Given the description of an element on the screen output the (x, y) to click on. 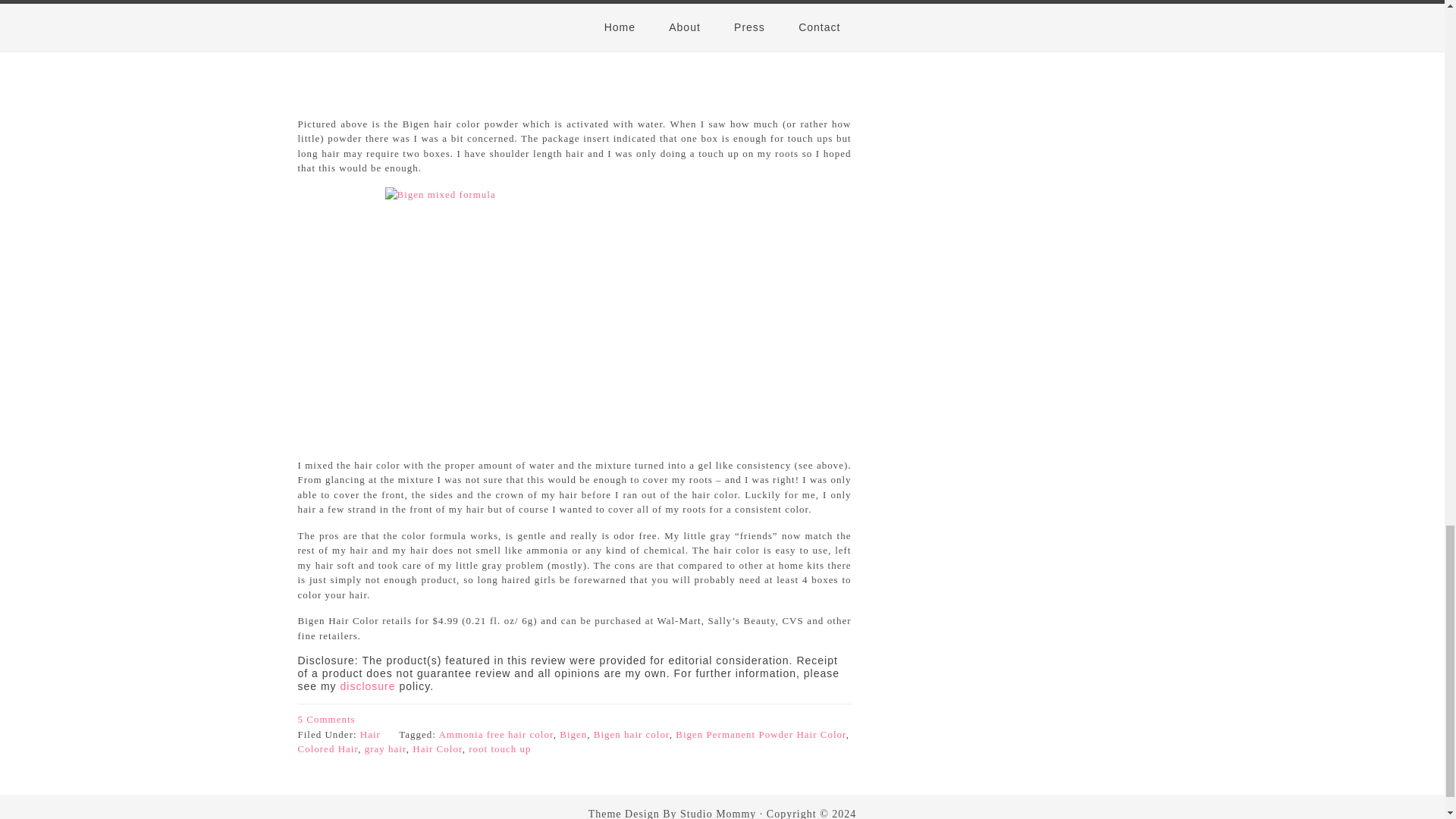
Ammonia free hair color (495, 734)
bigen-hair-color-powder (574, 48)
Disclosure (368, 686)
Hair Color (436, 748)
Hair (369, 734)
Bigen (572, 734)
Colored Hair (327, 748)
root touch up (499, 748)
gray hair (385, 748)
disclosure (368, 686)
5 Comments (326, 718)
Bigen hair color (631, 734)
Bigen Permanent Powder Hair Color (760, 734)
bigen-hair-color-mixed (574, 312)
